Given the description of an element on the screen output the (x, y) to click on. 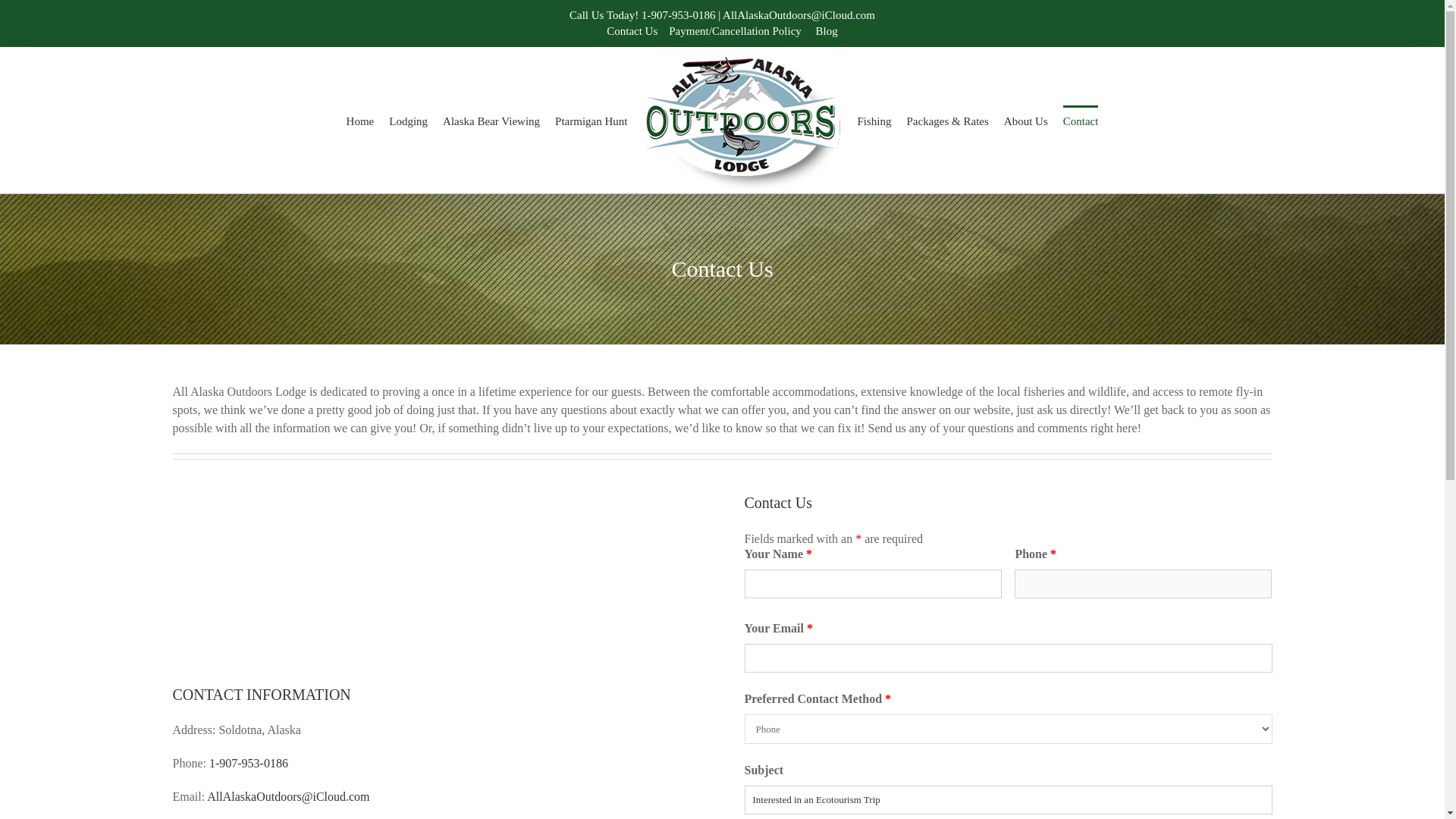
Home (360, 119)
Lodging (408, 119)
About Us (1026, 119)
Fishing (874, 119)
Interested in an Ecotourism Trip (1008, 799)
Ptarmigan Hunt (590, 119)
Alaska Bear Viewing (491, 119)
